Given the description of an element on the screen output the (x, y) to click on. 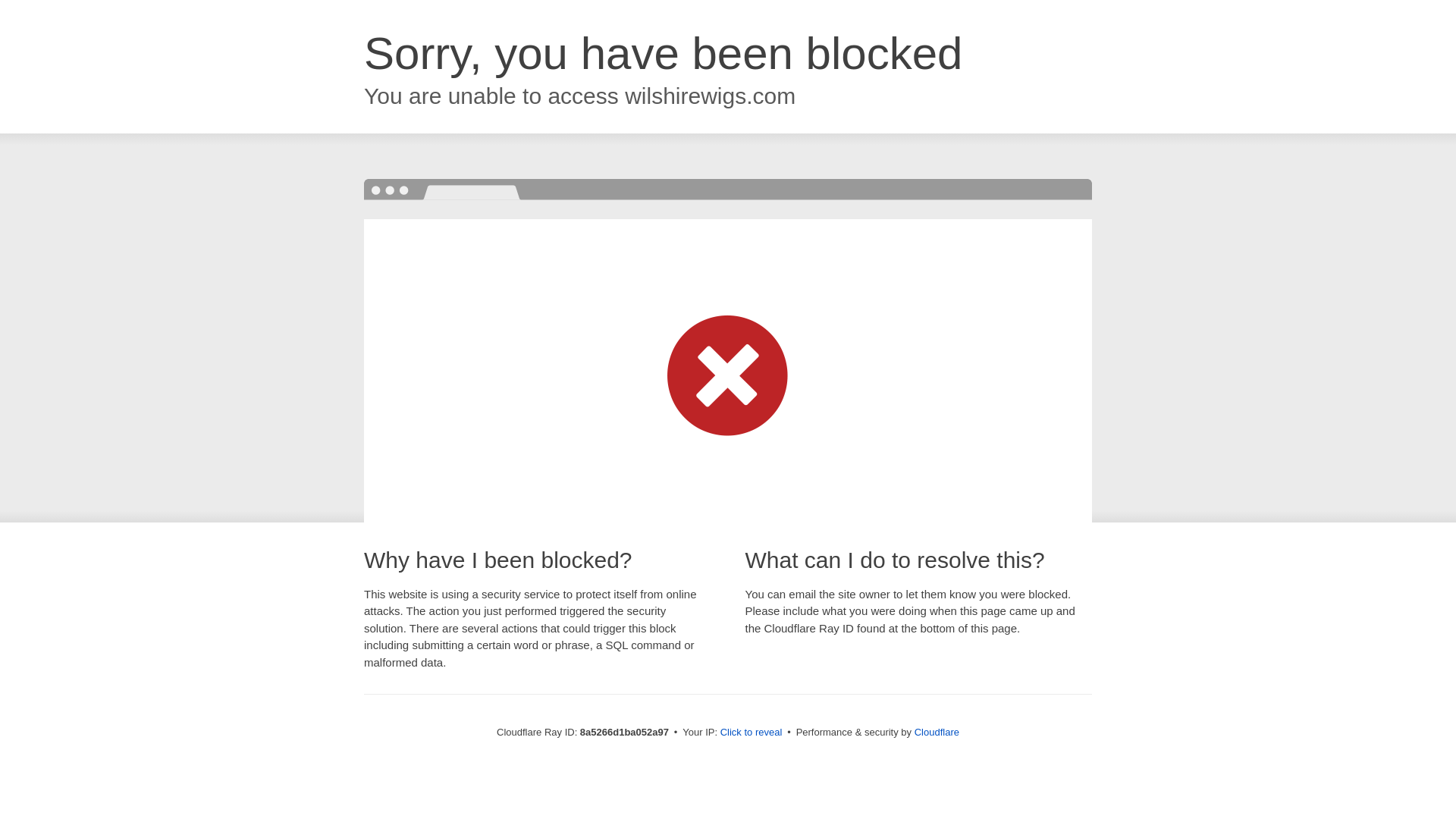
Cloudflare (936, 731)
Click to reveal (751, 732)
